Given the description of an element on the screen output the (x, y) to click on. 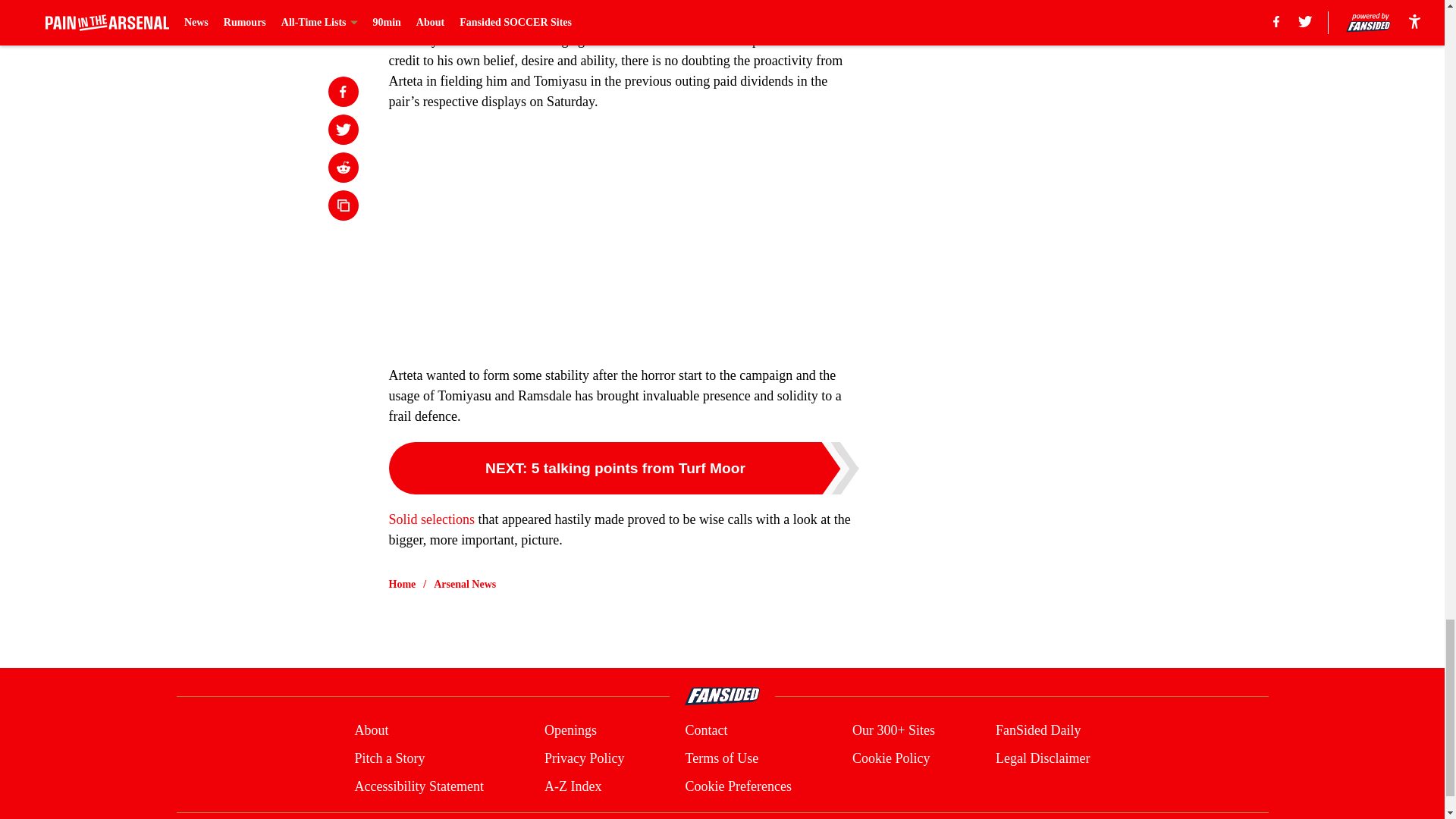
NEXT: 5 talking points from Turf Moor (623, 468)
Openings (570, 730)
Arsenal News (464, 584)
About (370, 730)
Home (401, 584)
FanSided Daily (1038, 730)
Contact (705, 730)
Solid selections (431, 519)
Pitch a Story (389, 758)
